Given the description of an element on the screen output the (x, y) to click on. 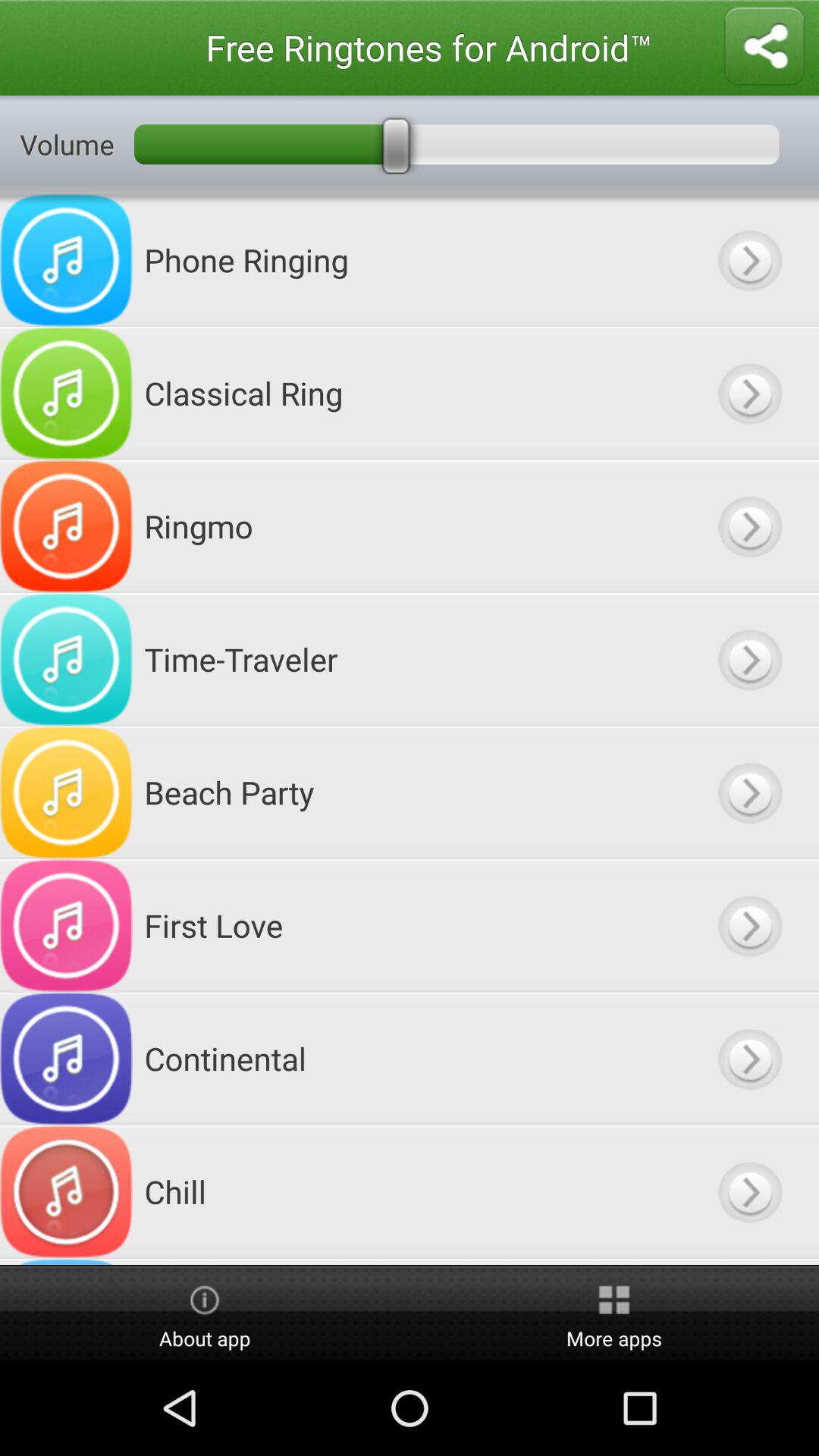
downloads ringtone (749, 925)
